Given the description of an element on the screen output the (x, y) to click on. 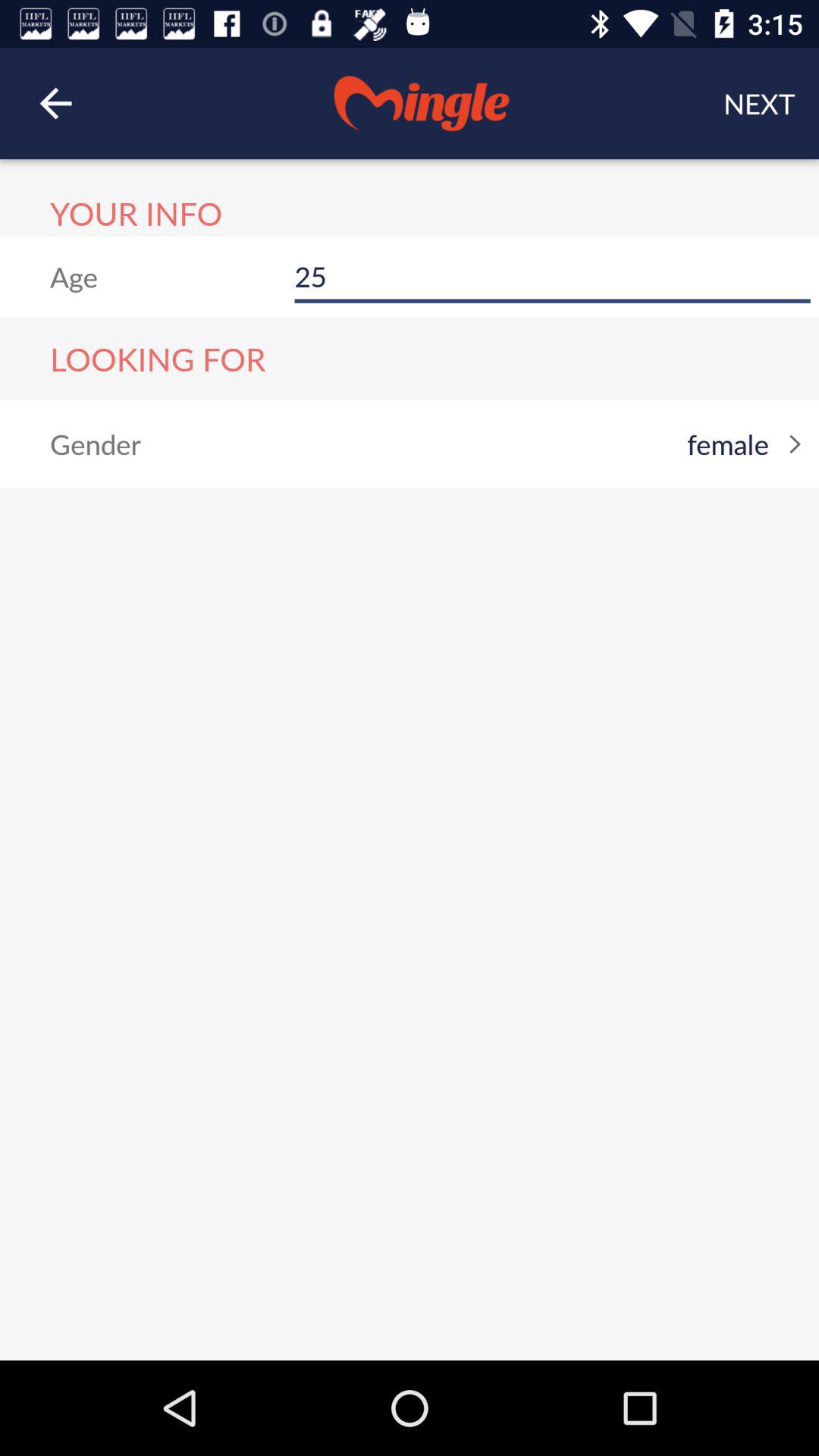
turn on item to the right of age (552, 276)
